Given the description of an element on the screen output the (x, y) to click on. 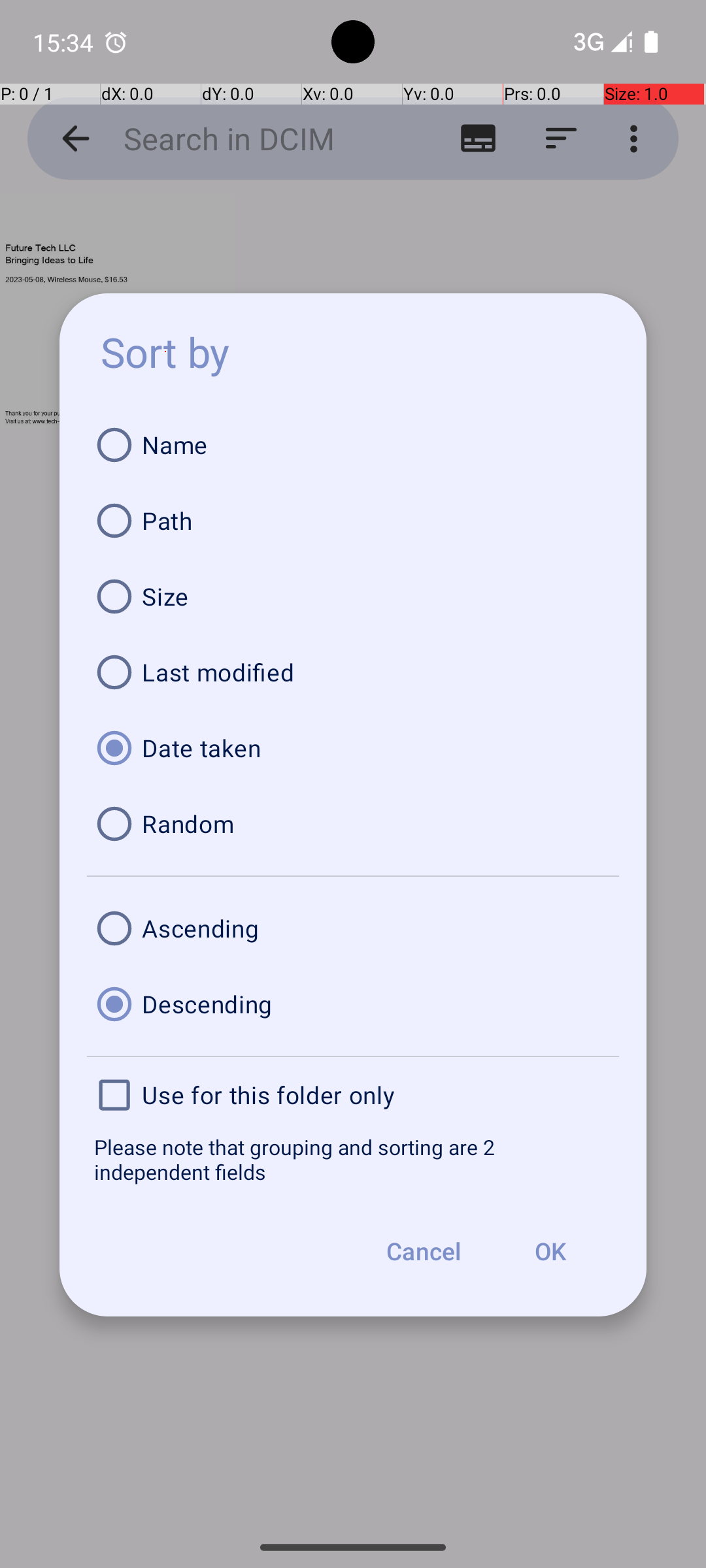
Use for this folder only Element type: android.widget.CheckBox (352, 1094)
Please note that grouping and sorting are 2 independent fields Element type: android.widget.TextView (352, 1158)
Path Element type: android.widget.RadioButton (352, 520)
Last modified Element type: android.widget.RadioButton (352, 672)
Date taken Element type: android.widget.RadioButton (352, 747)
Random Element type: android.widget.RadioButton (352, 823)
